Given the description of an element on the screen output the (x, y) to click on. 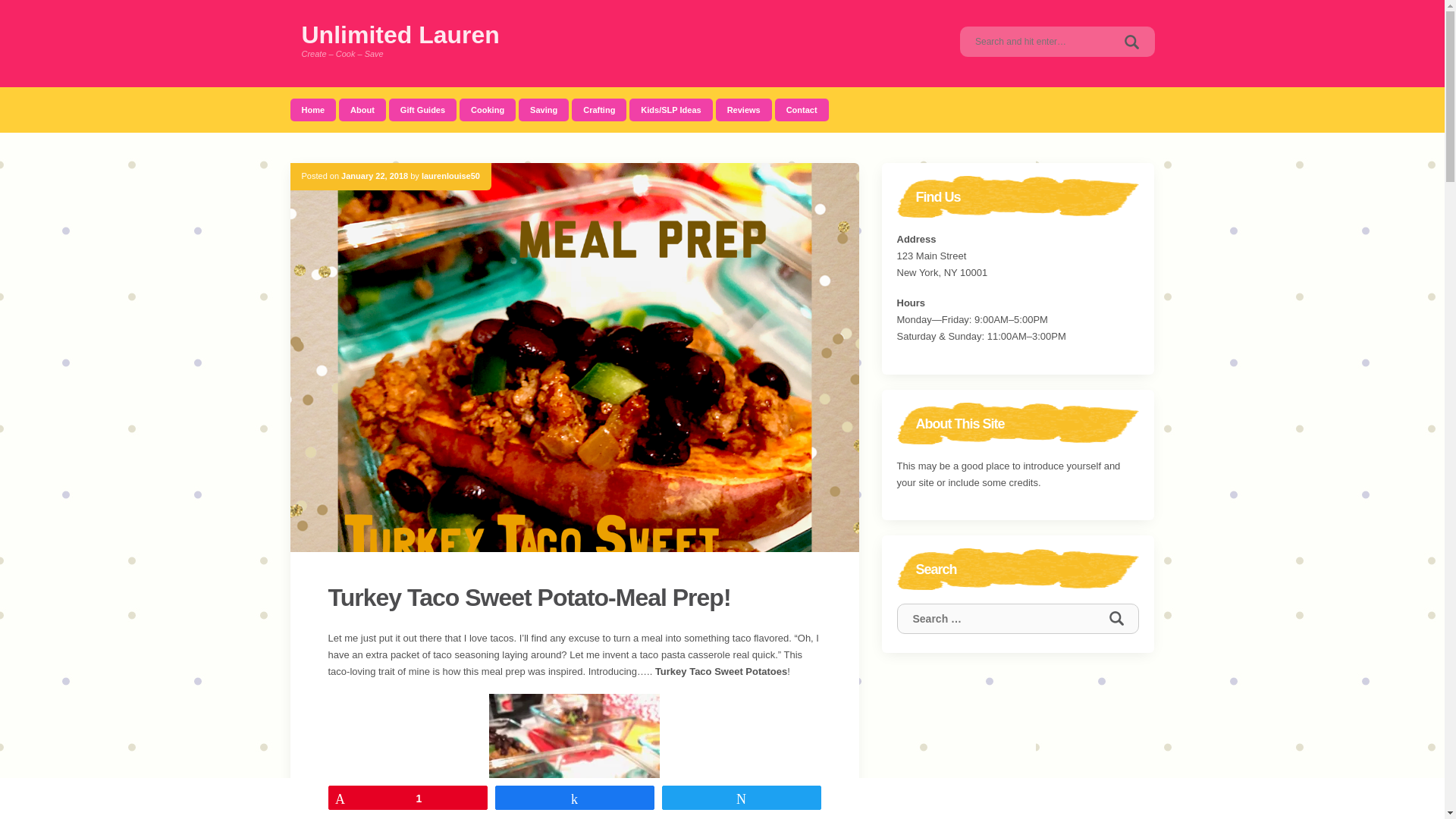
Gift Guides (422, 109)
Crafting (599, 109)
Crafting (599, 109)
Home (312, 109)
Contact (801, 109)
Search (1115, 618)
Unlimited Lauren (400, 34)
laurenlouise50 (451, 175)
Search (1115, 618)
About (362, 109)
